Given the description of an element on the screen output the (x, y) to click on. 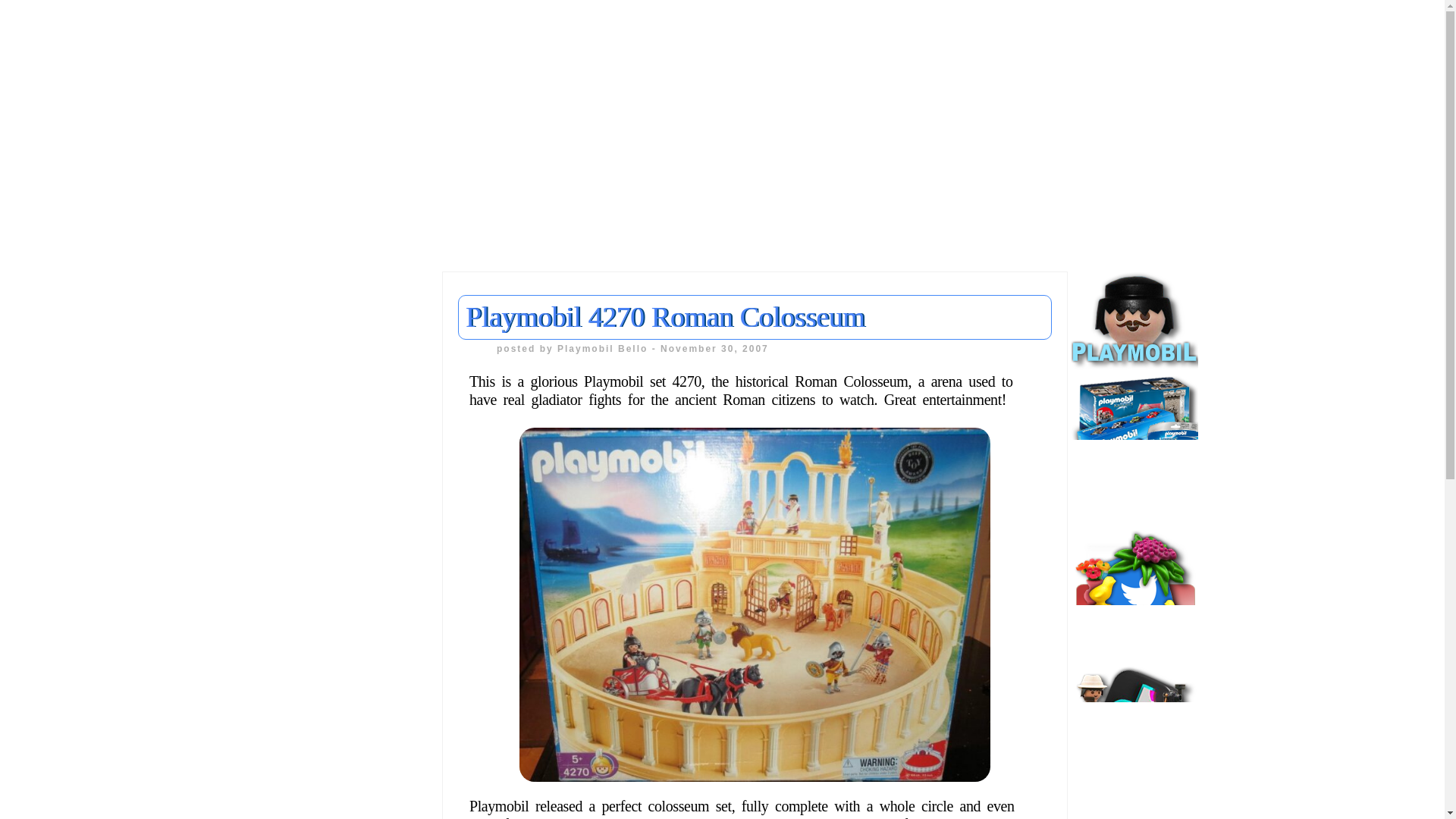
Fantasy (40, 499)
Rock n' Roll (53, 752)
History (38, 555)
Playmobil Bello - (609, 348)
Mystery Series (61, 639)
Pirates (37, 724)
Western (41, 807)
Ayuma (37, 443)
Knights (40, 611)
Jungle (37, 583)
